Given the description of an element on the screen output the (x, y) to click on. 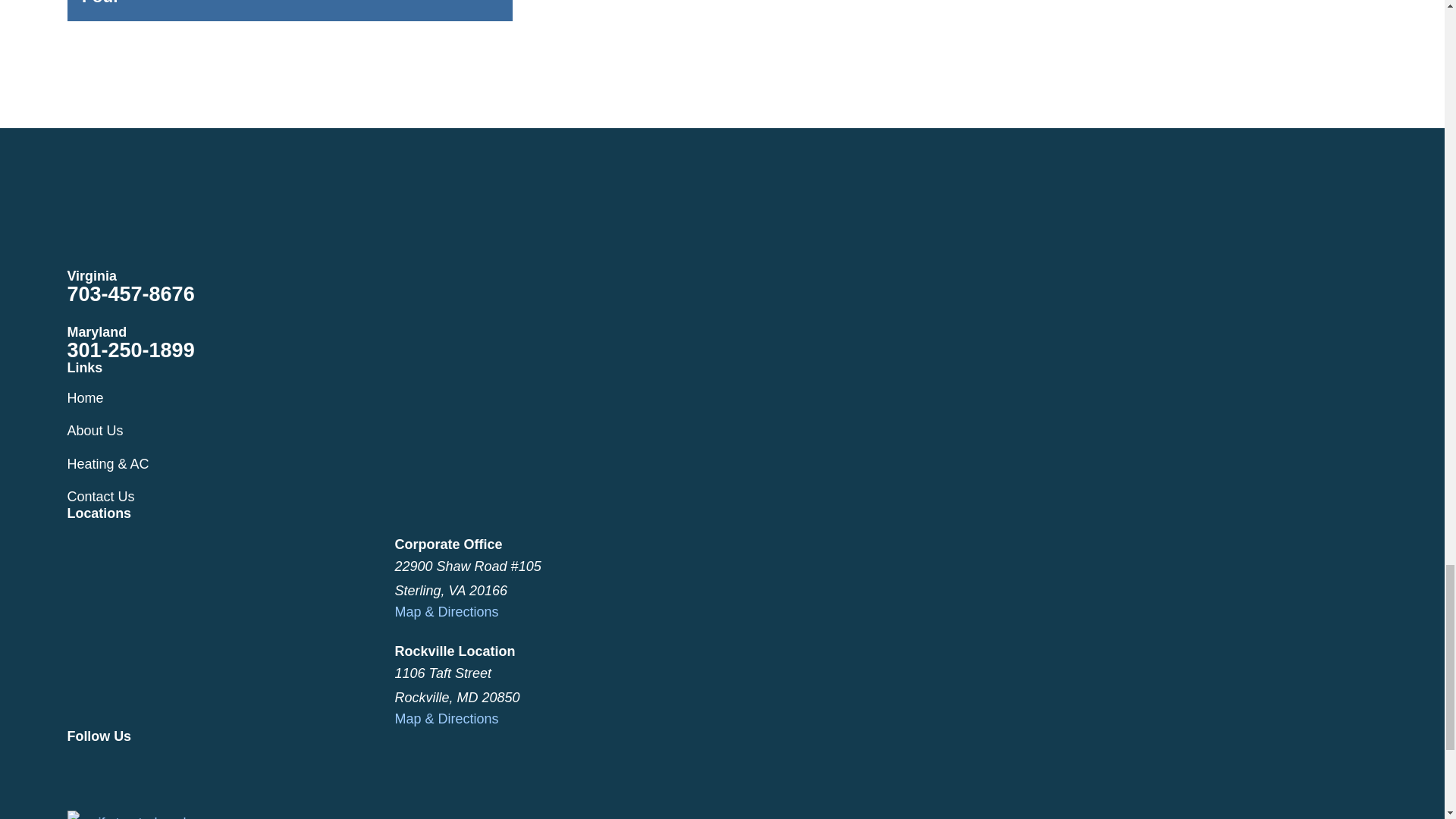
Facebook (75, 766)
LinkedIn (195, 766)
Google Business Profile (156, 766)
Twitter (115, 766)
